Given the description of an element on the screen output the (x, y) to click on. 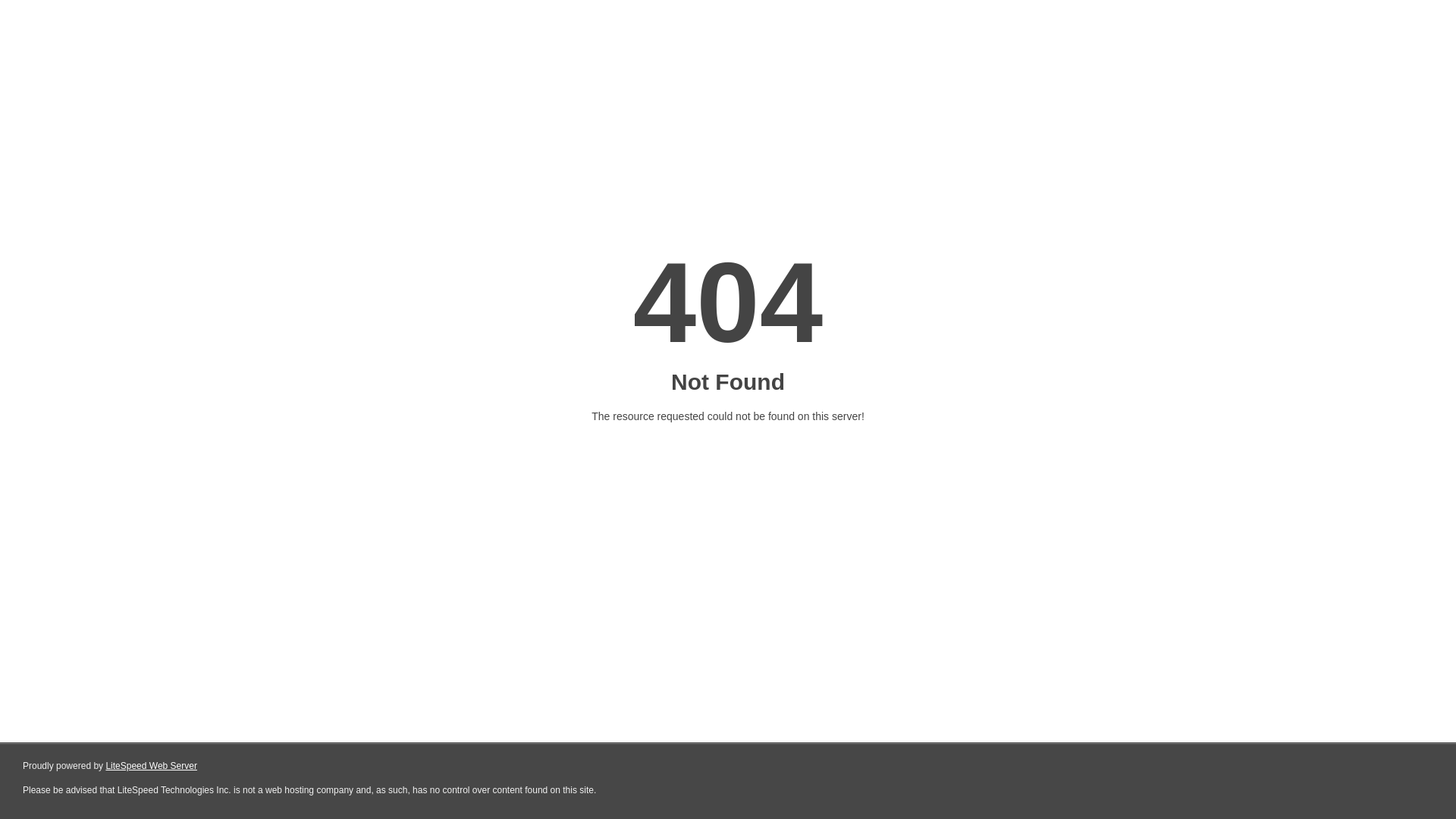
LiteSpeed Web Server Element type: text (151, 765)
